Given the description of an element on the screen output the (x, y) to click on. 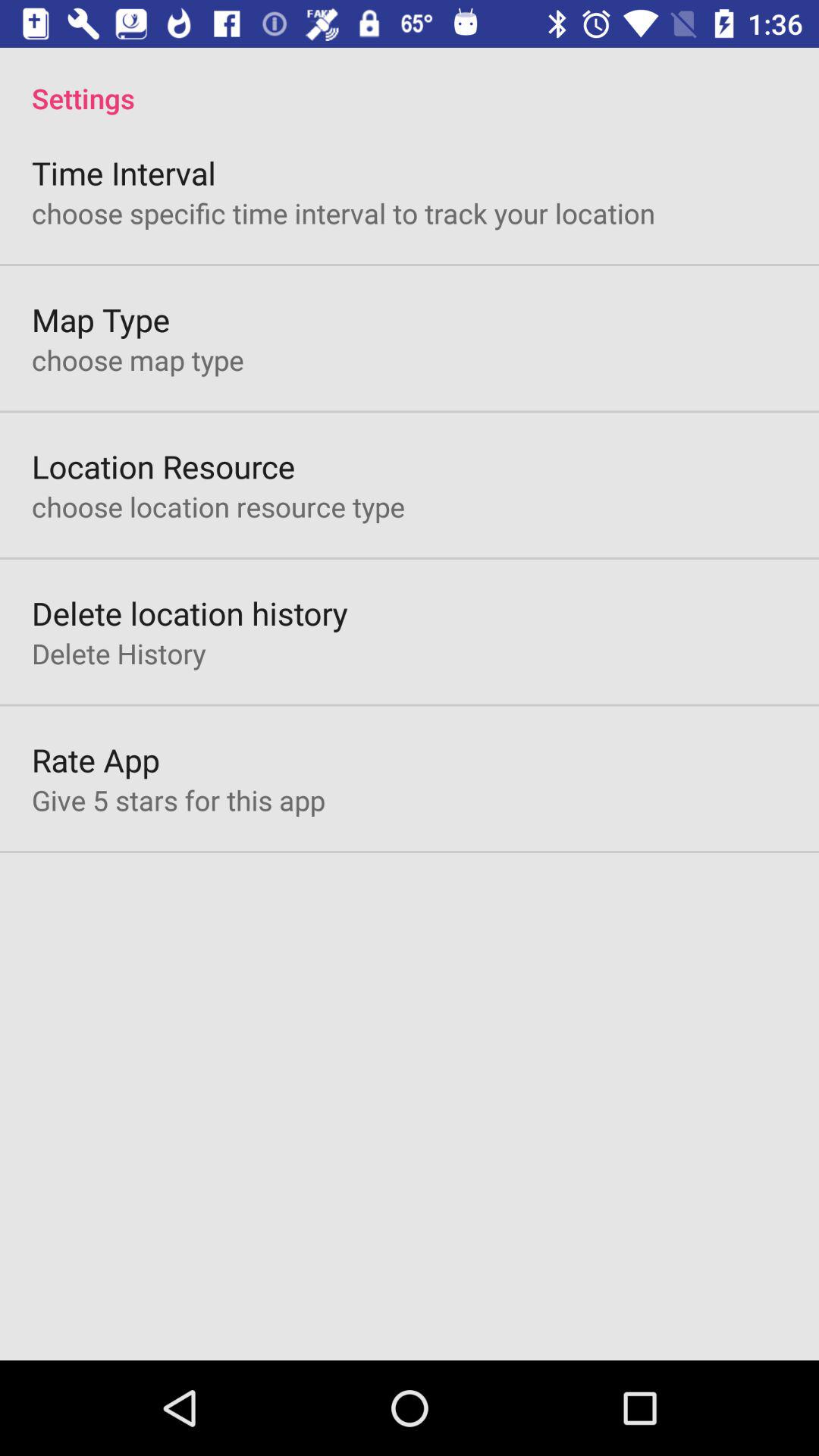
open app below time interval app (343, 213)
